Given the description of an element on the screen output the (x, y) to click on. 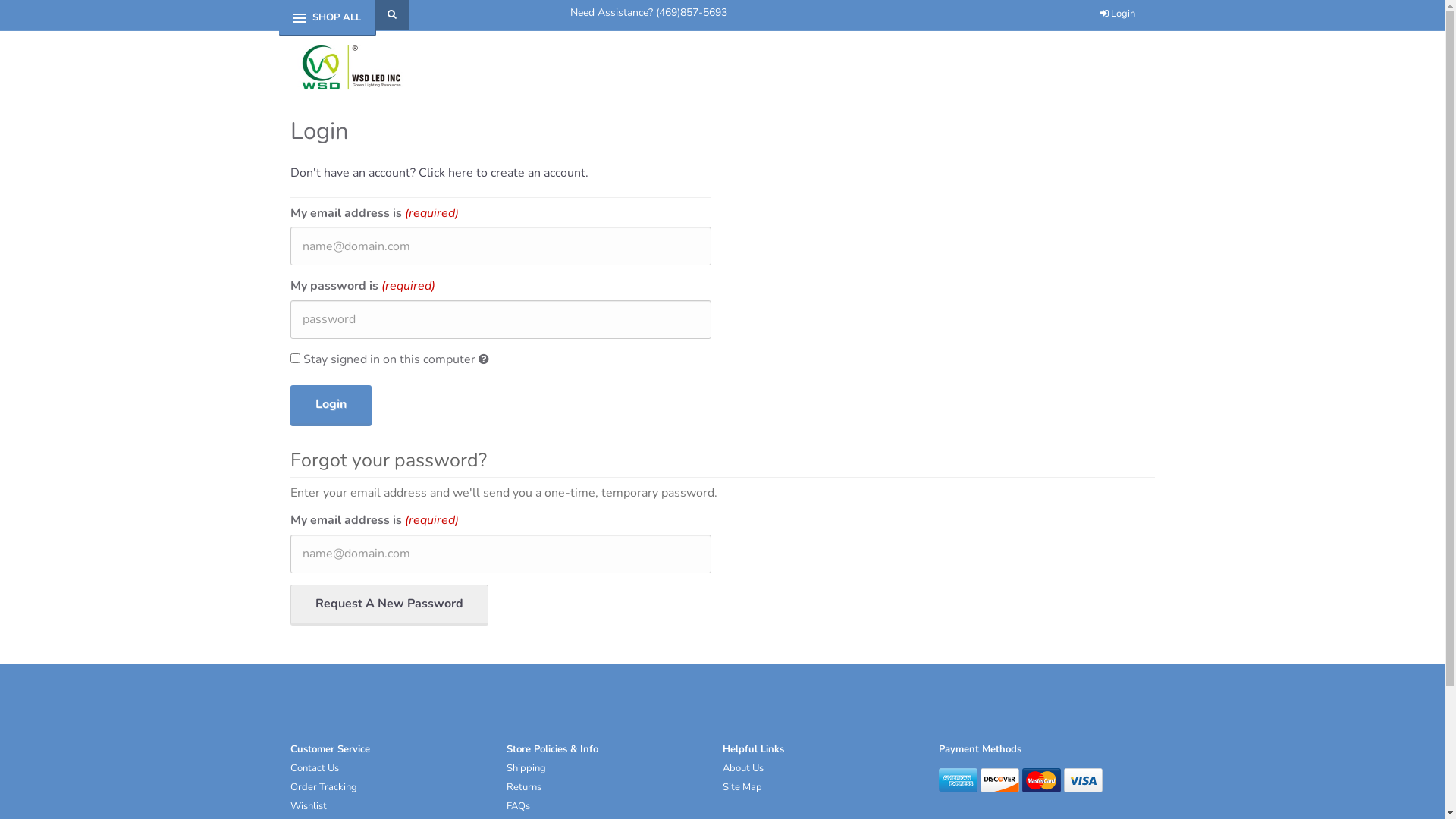
Shipping Element type: text (526, 768)
Contact Us Element type: text (313, 768)
Order Tracking Element type: text (322, 786)
Wishlist Element type: text (307, 805)
Don't have an account? Click here to create an account. Element type: text (438, 172)
Request A New Password Element type: text (388, 605)
Login Element type: text (329, 405)
FAQs Element type: text (518, 805)
Login Element type: text (1116, 13)
Site Map Element type: text (741, 786)
About Us Element type: text (741, 768)
SHOP ALL Element type: text (336, 17)
WSDLED.cc Element type: hover (348, 66)
Returns Element type: text (523, 786)
